Given the description of an element on the screen output the (x, y) to click on. 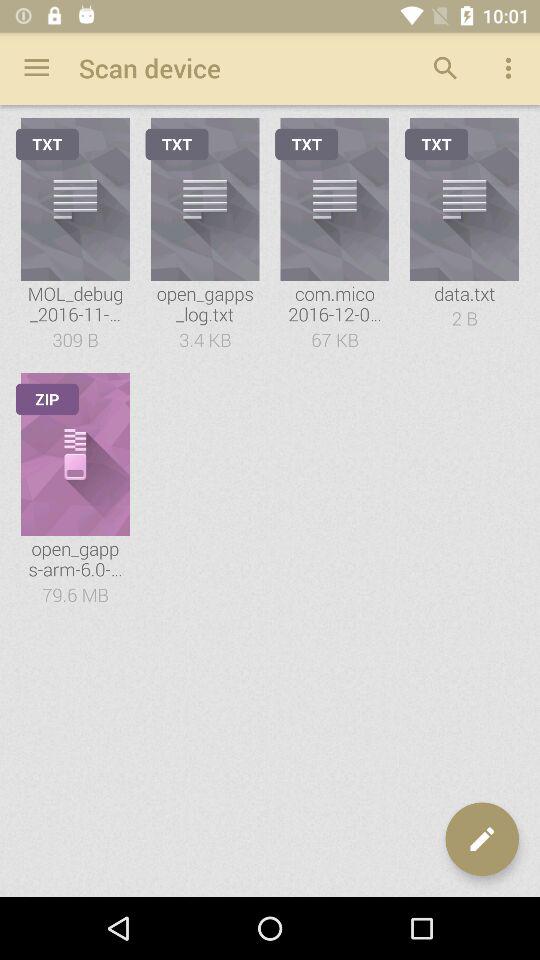
click icon below 2 b item (482, 839)
